Given the description of an element on the screen output the (x, y) to click on. 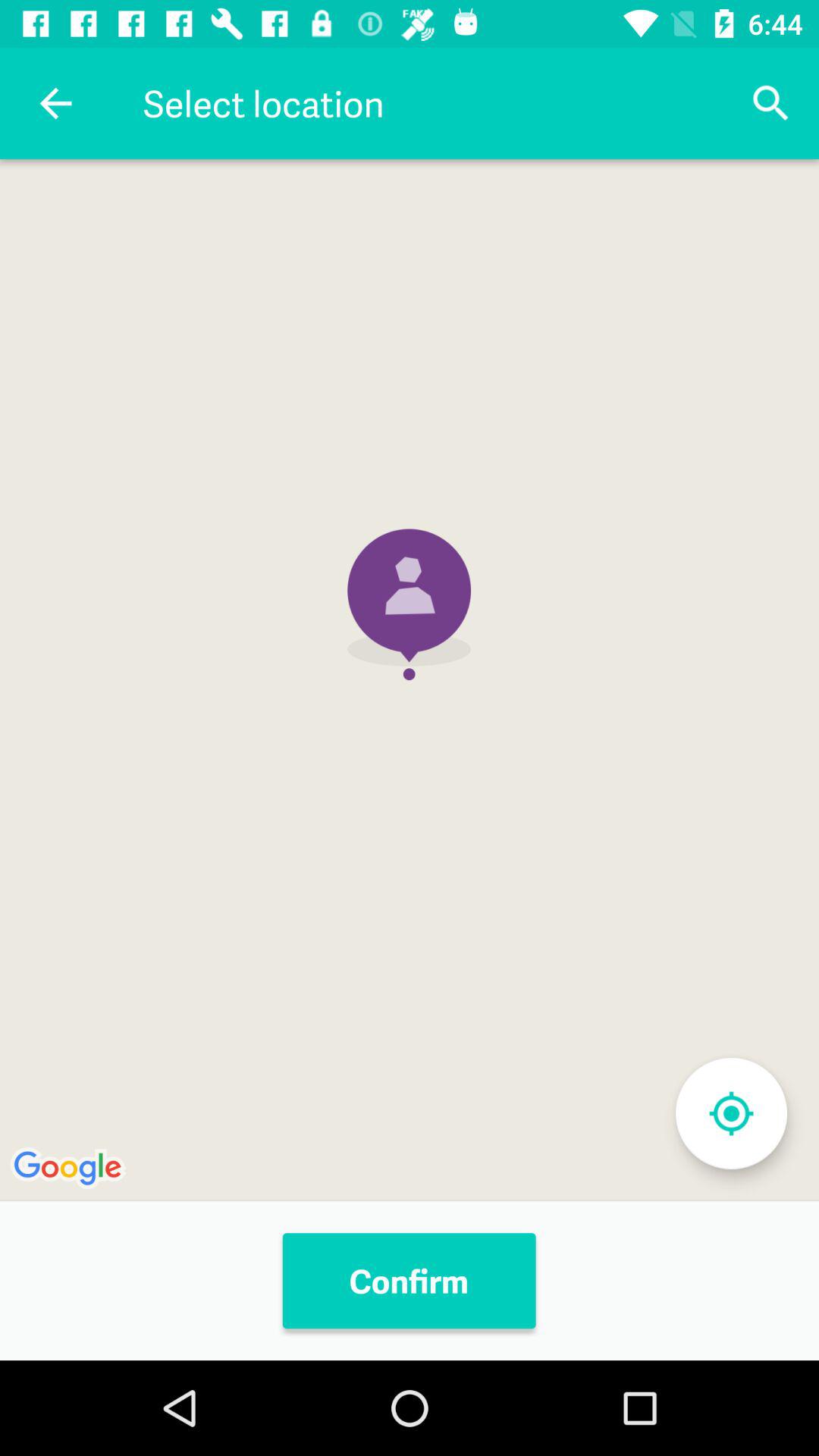
click item above confirm item (409, 680)
